Given the description of an element on the screen output the (x, y) to click on. 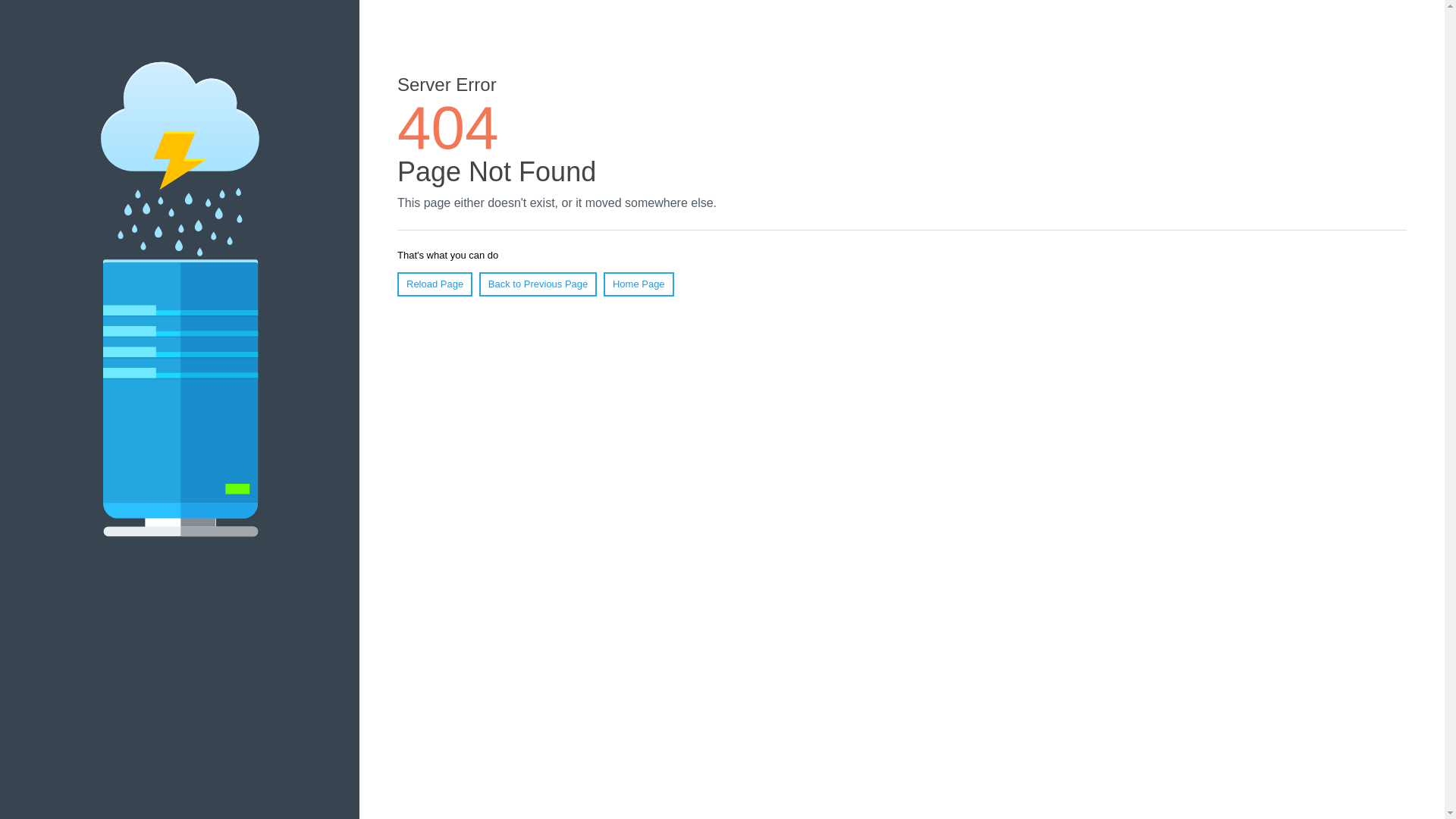
Reload Page Element type: text (434, 284)
Home Page Element type: text (638, 284)
Back to Previous Page Element type: text (538, 284)
